Given the description of an element on the screen output the (x, y) to click on. 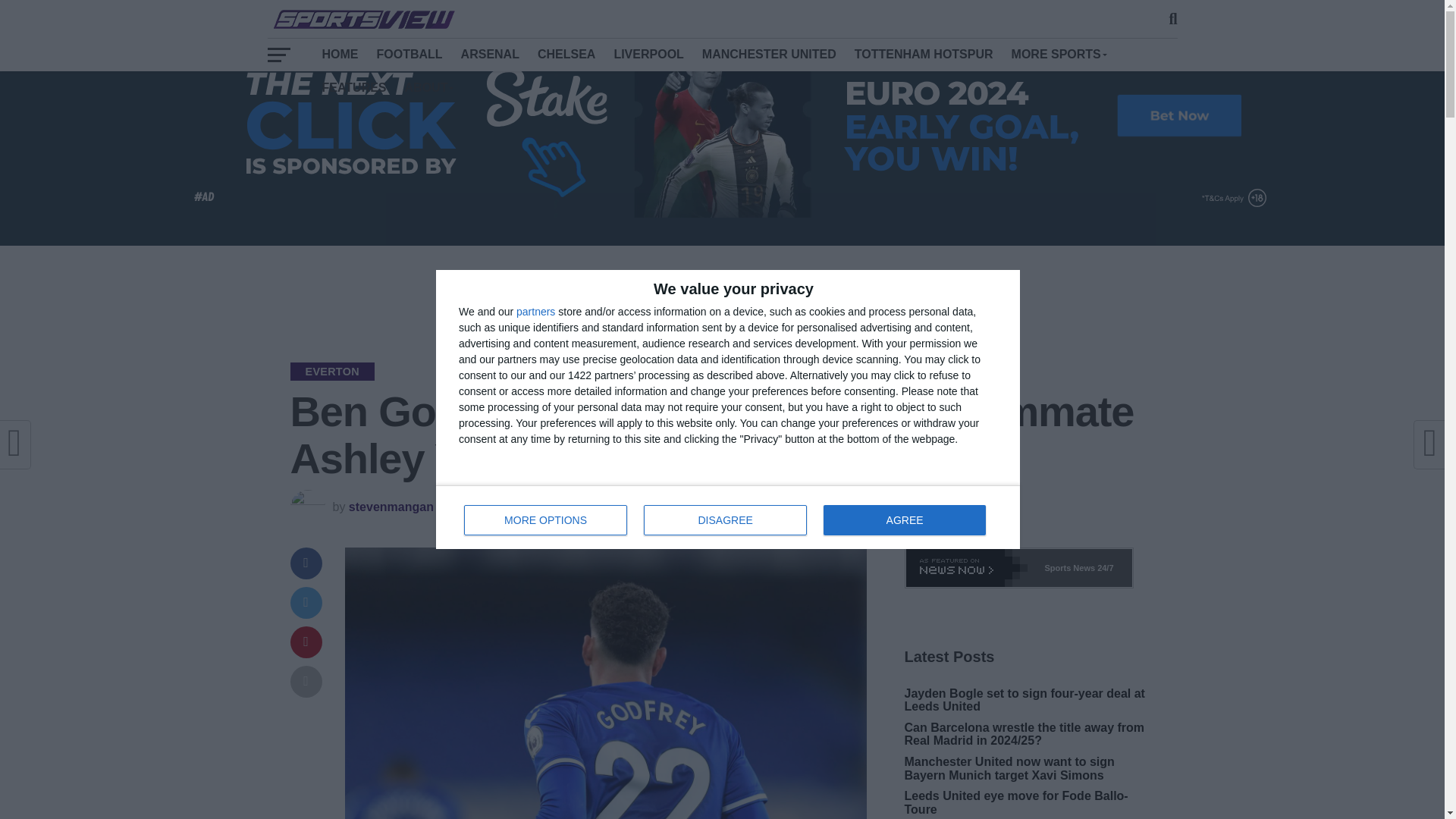
DISAGREE (724, 520)
CHELSEA (566, 54)
partners (535, 311)
AGREE (904, 520)
LIVERPOOL (727, 516)
MANCHESTER UNITED (648, 54)
Posts by stevenmangan (769, 54)
MORE OPTIONS (391, 506)
TOTTENHAM HOTSPUR (545, 520)
MORE SPORTS (924, 54)
ARSENAL (1059, 54)
Click here for more Arsenal news from NewsNow (489, 54)
HOME (1018, 567)
FOOTBALL (339, 54)
